Given the description of an element on the screen output the (x, y) to click on. 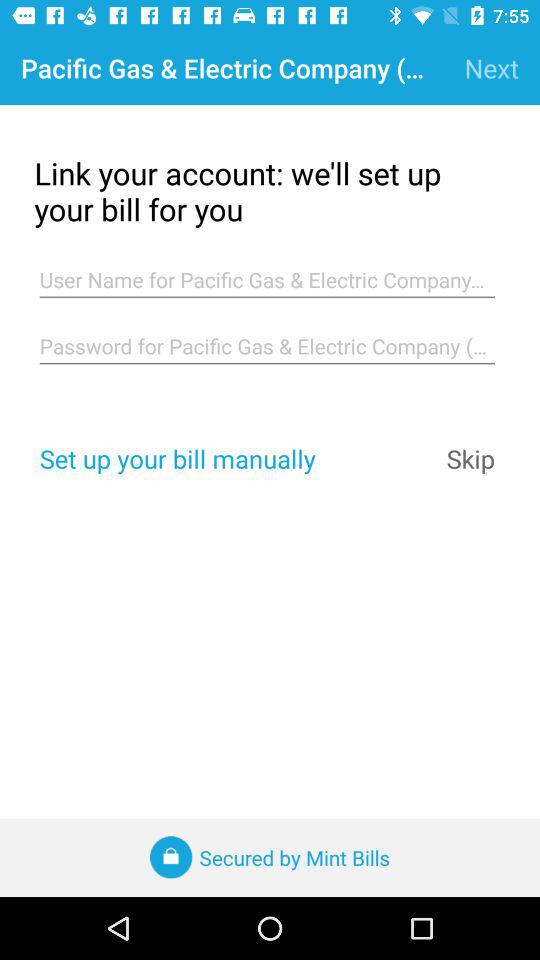
open the icon next to set up your icon (470, 458)
